Given the description of an element on the screen output the (x, y) to click on. 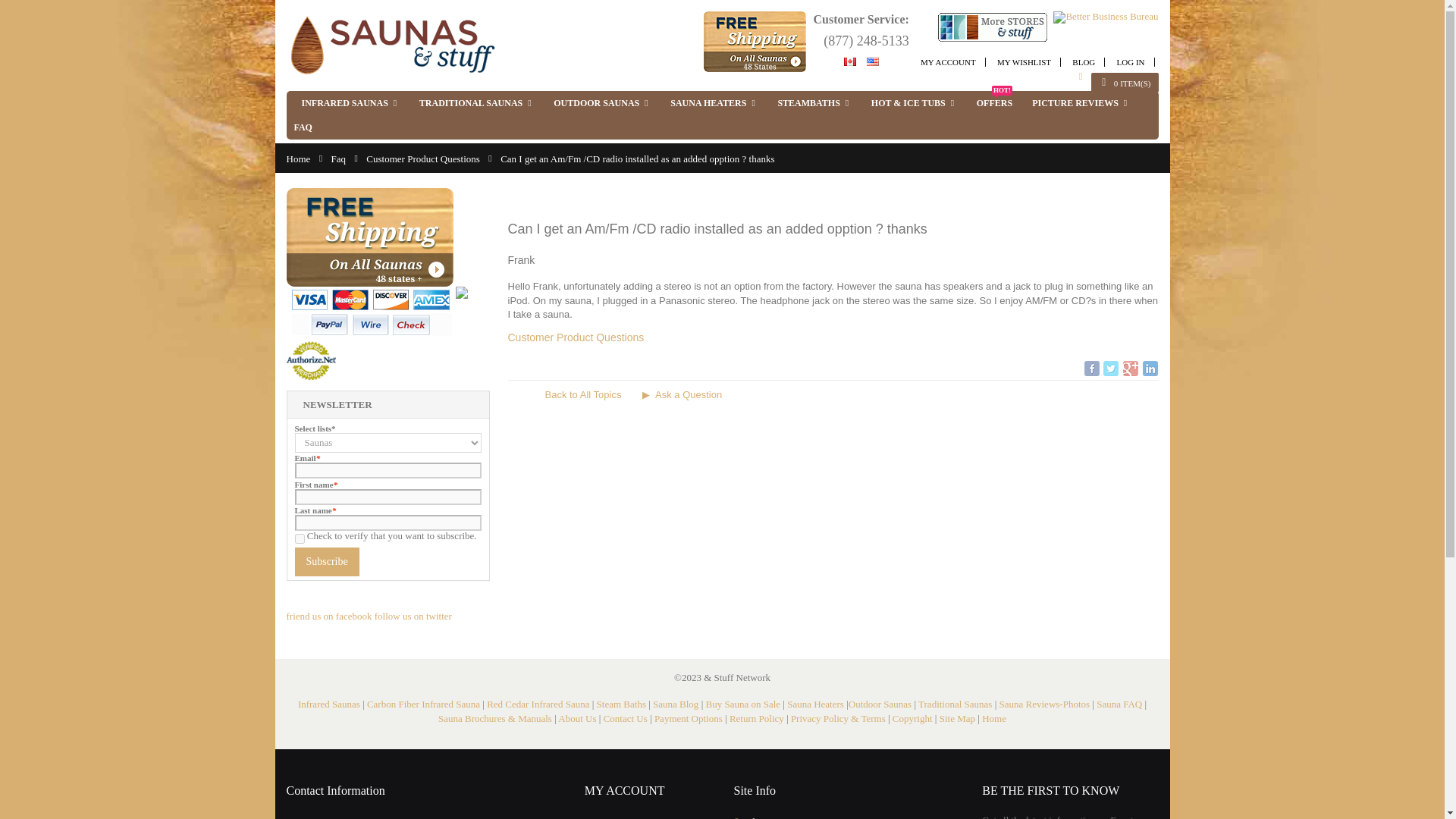
My Wishlist (1024, 62)
Carbon Fiber Infrared Sauna (423, 704)
Go to Home Page (298, 158)
Authorize Dot Net (311, 346)
OUTDOOR SAUNAS (602, 103)
Customer Product Questions (423, 158)
INFRARED SAUNAS (350, 103)
STEAMBATHS (814, 103)
SAUNA HEATERS (713, 103)
Free Sauna Shipping 48 States (369, 237)
